Given the description of an element on the screen output the (x, y) to click on. 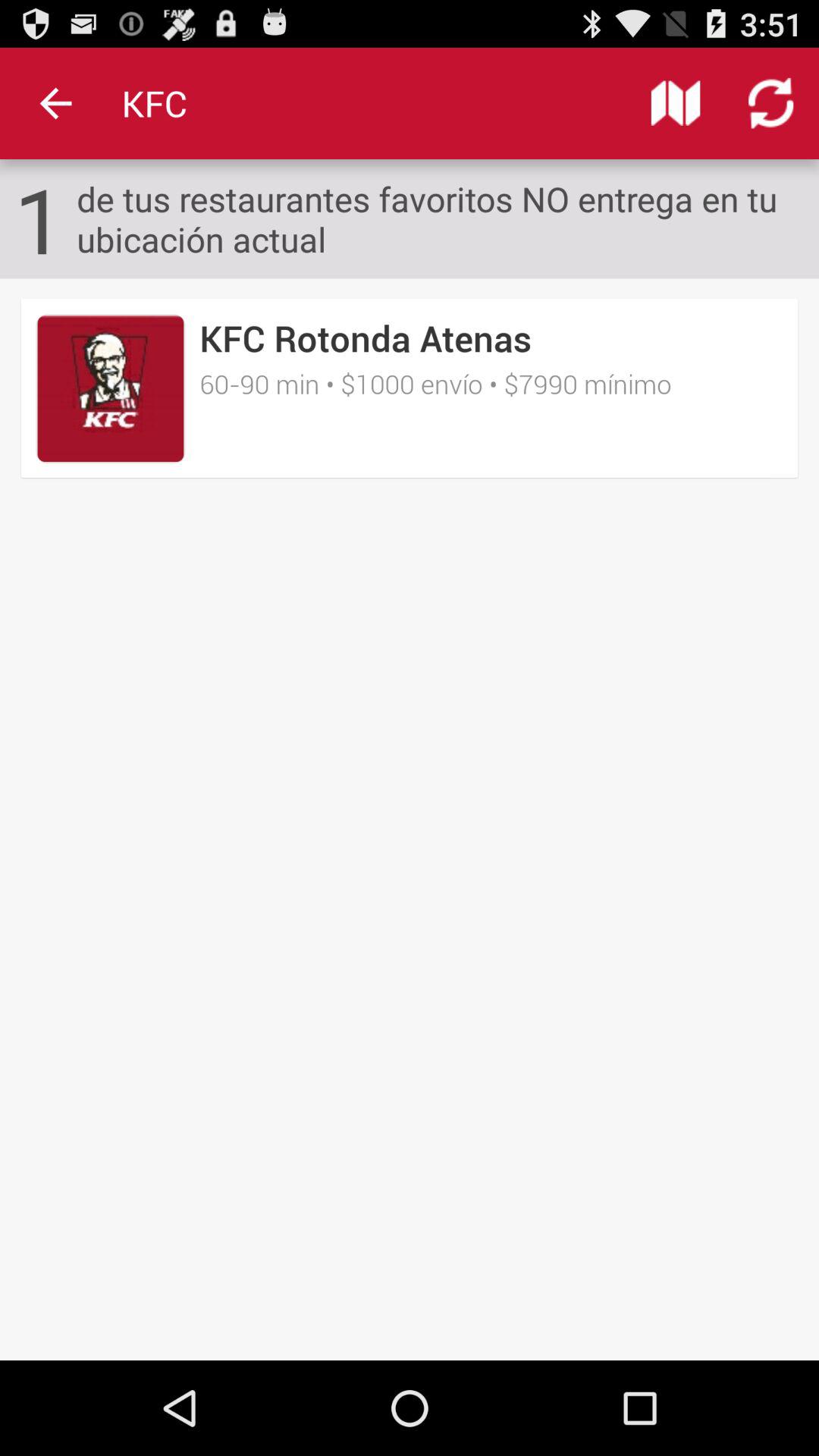
press icon to the left of de tus restaurantes (39, 218)
